Given the description of an element on the screen output the (x, y) to click on. 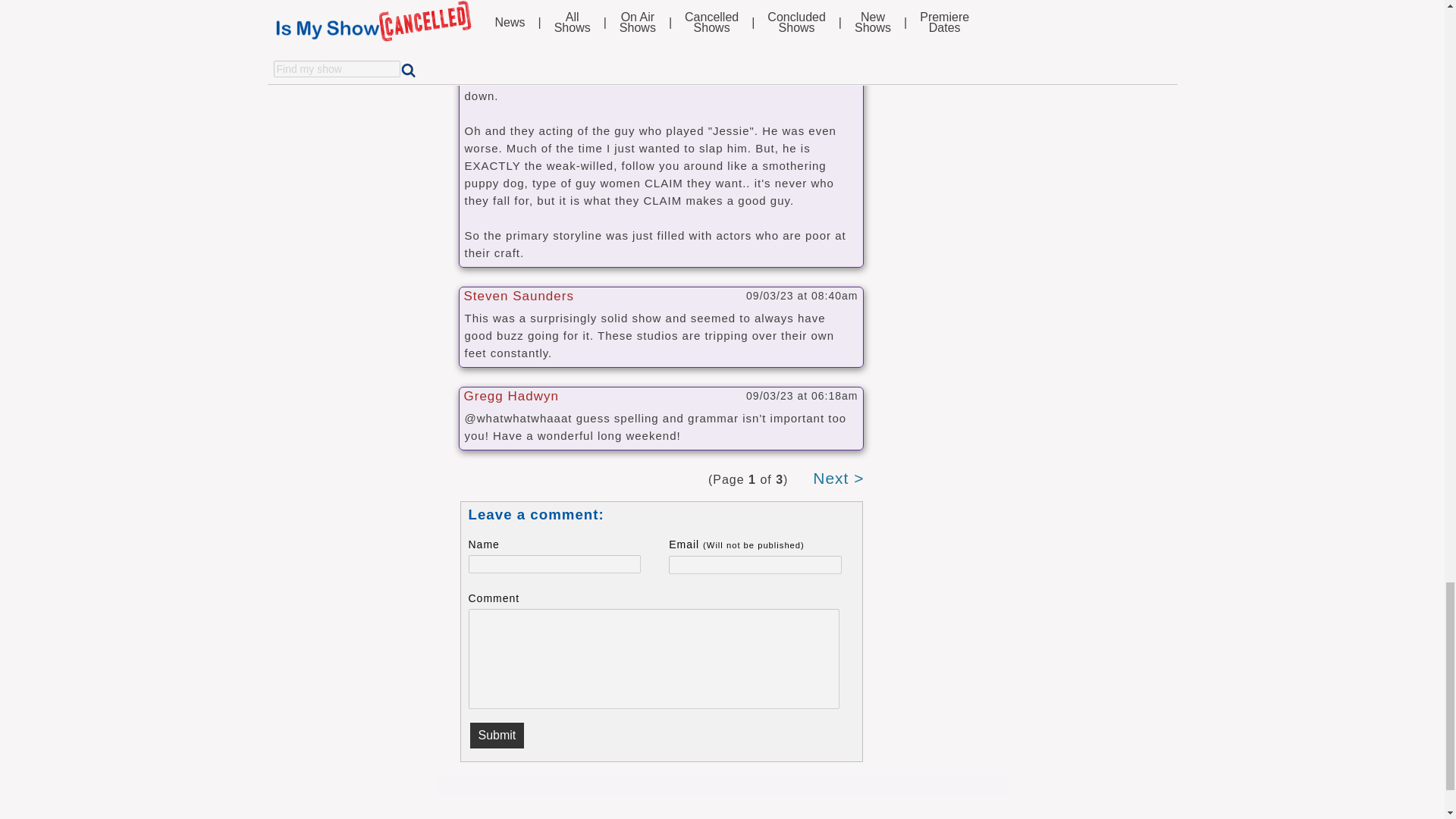
Submit (497, 735)
Submit (497, 735)
